Given the description of an element on the screen output the (x, y) to click on. 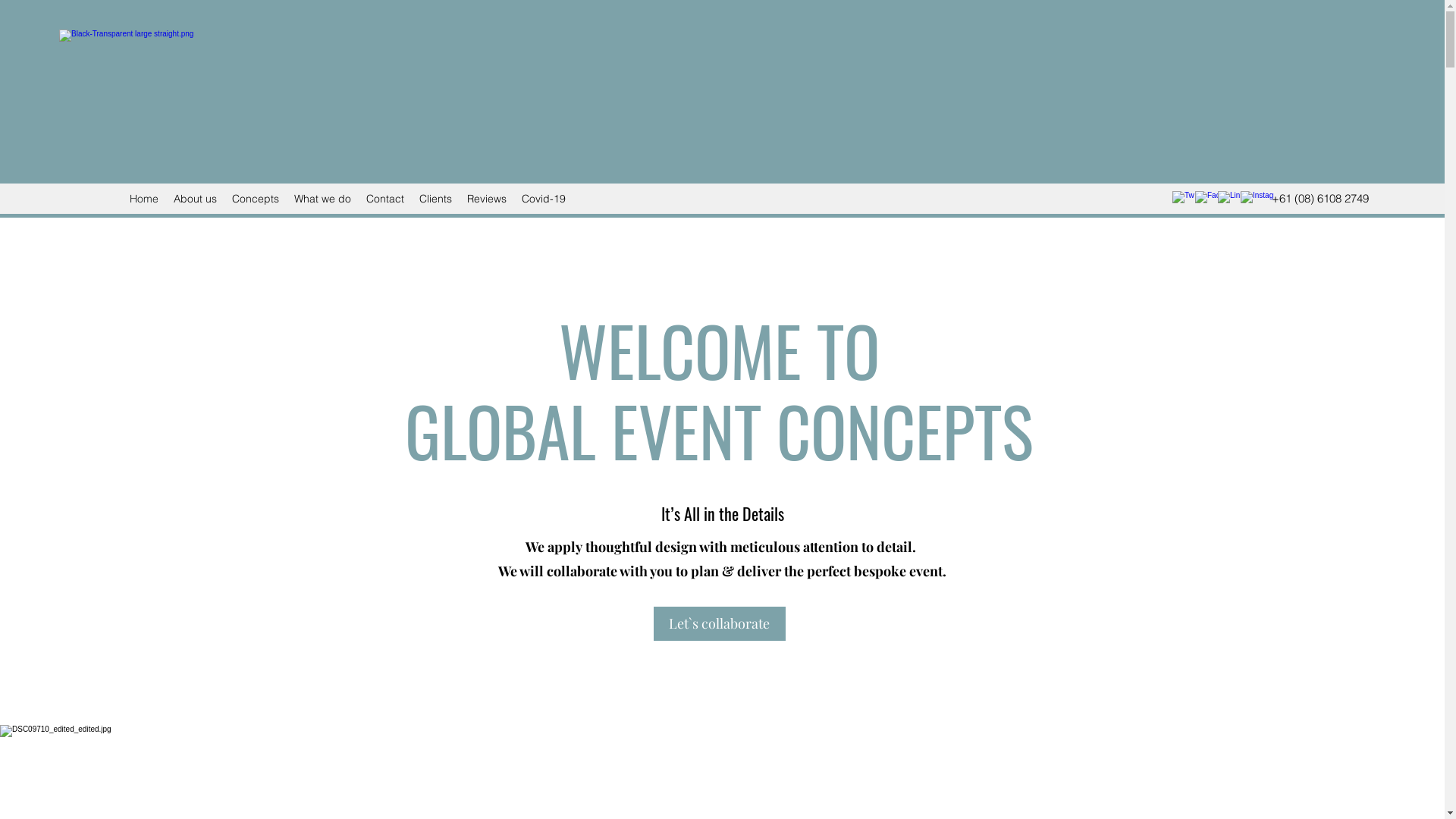
Home Element type: text (144, 198)
Reviews Element type: text (486, 198)
Let`s collaborate Element type: text (719, 623)
Concepts Element type: text (255, 198)
What we do Element type: text (322, 198)
Covid-19 Element type: text (543, 198)
+61 (08) 6108 2749 Element type: text (1320, 198)
Clients Element type: text (435, 198)
Contact Element type: text (384, 198)
About us Element type: text (195, 198)
